Given the description of an element on the screen output the (x, y) to click on. 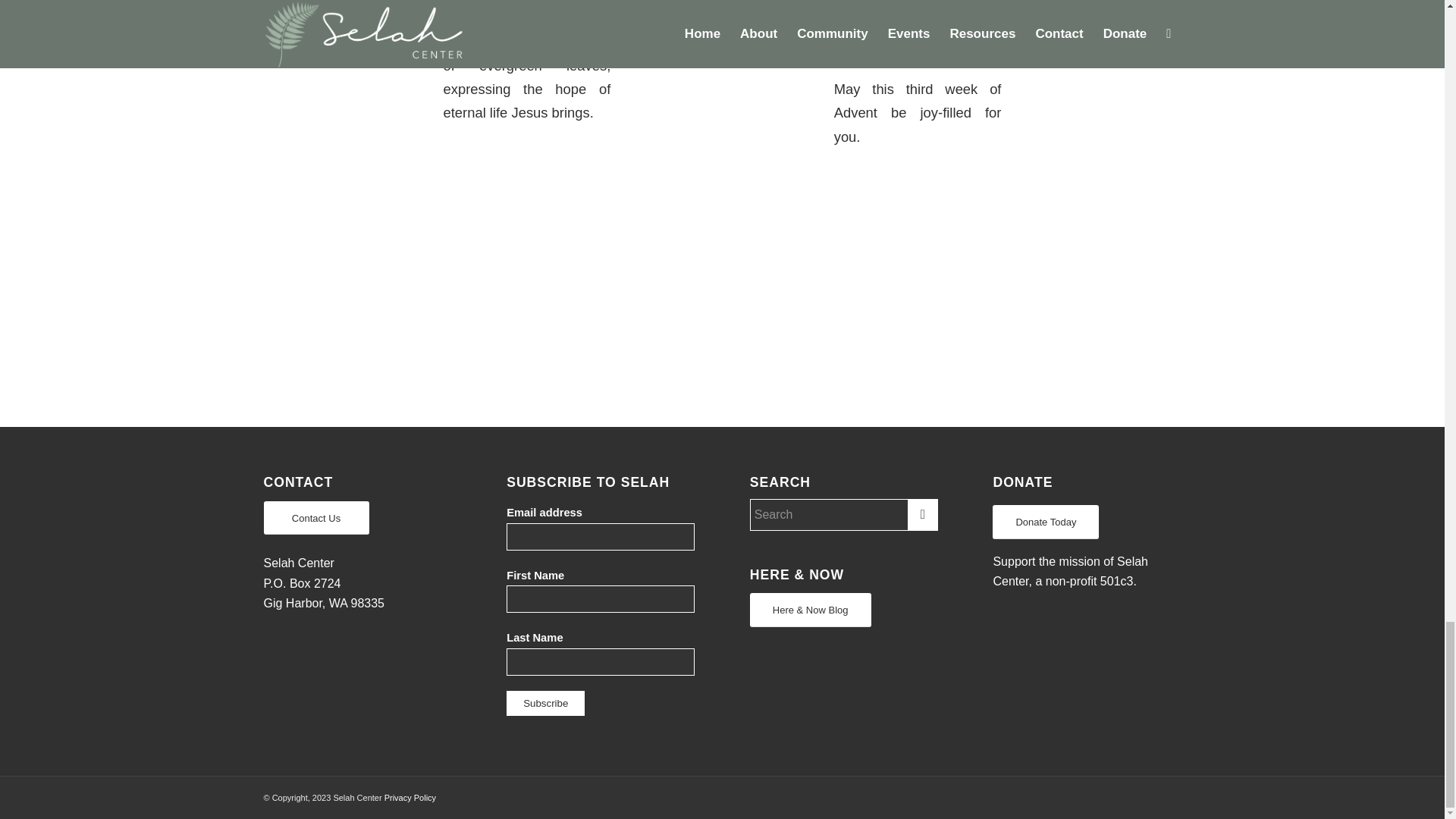
Subscribe (545, 703)
Donate Today (1045, 521)
Contact Us (316, 518)
Donate Today (1045, 521)
Subscribe (545, 703)
Privacy Policy (409, 797)
